Given the description of an element on the screen output the (x, y) to click on. 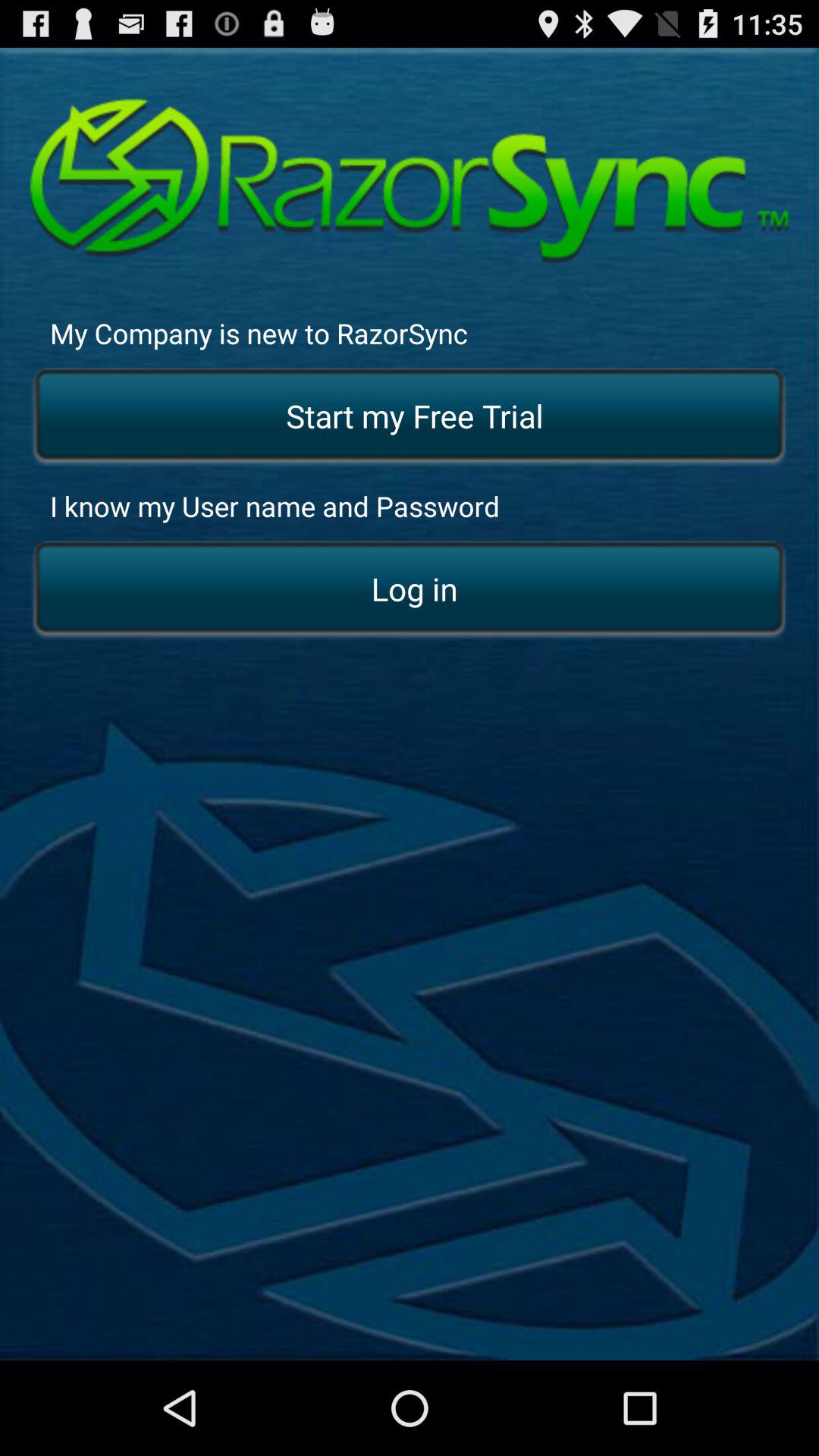
scroll to start my free (409, 417)
